Given the description of an element on the screen output the (x, y) to click on. 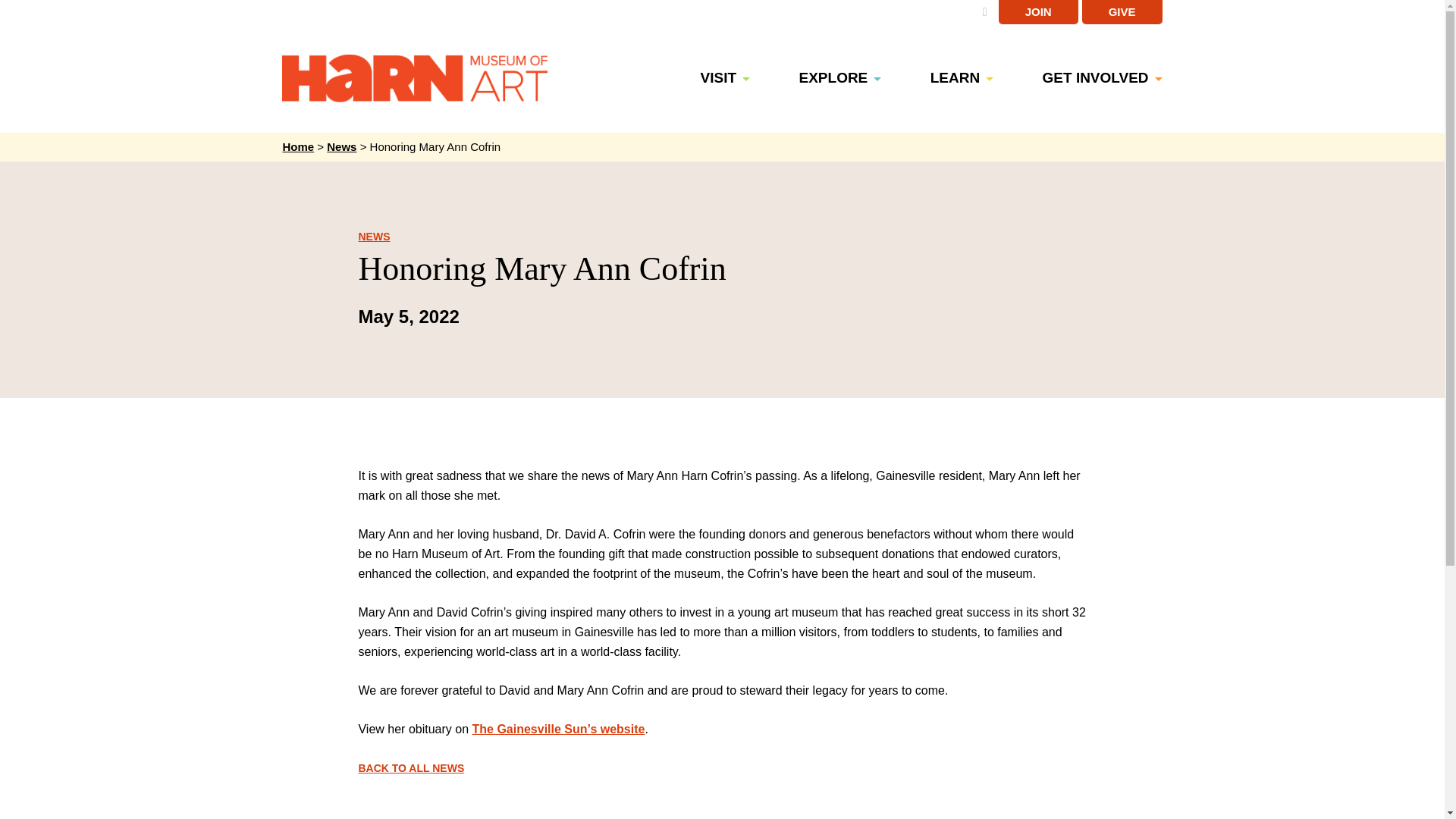
VISIT (736, 77)
JOIN (1038, 12)
Open Search (984, 11)
GIVE (1121, 12)
